Given the description of an element on the screen output the (x, y) to click on. 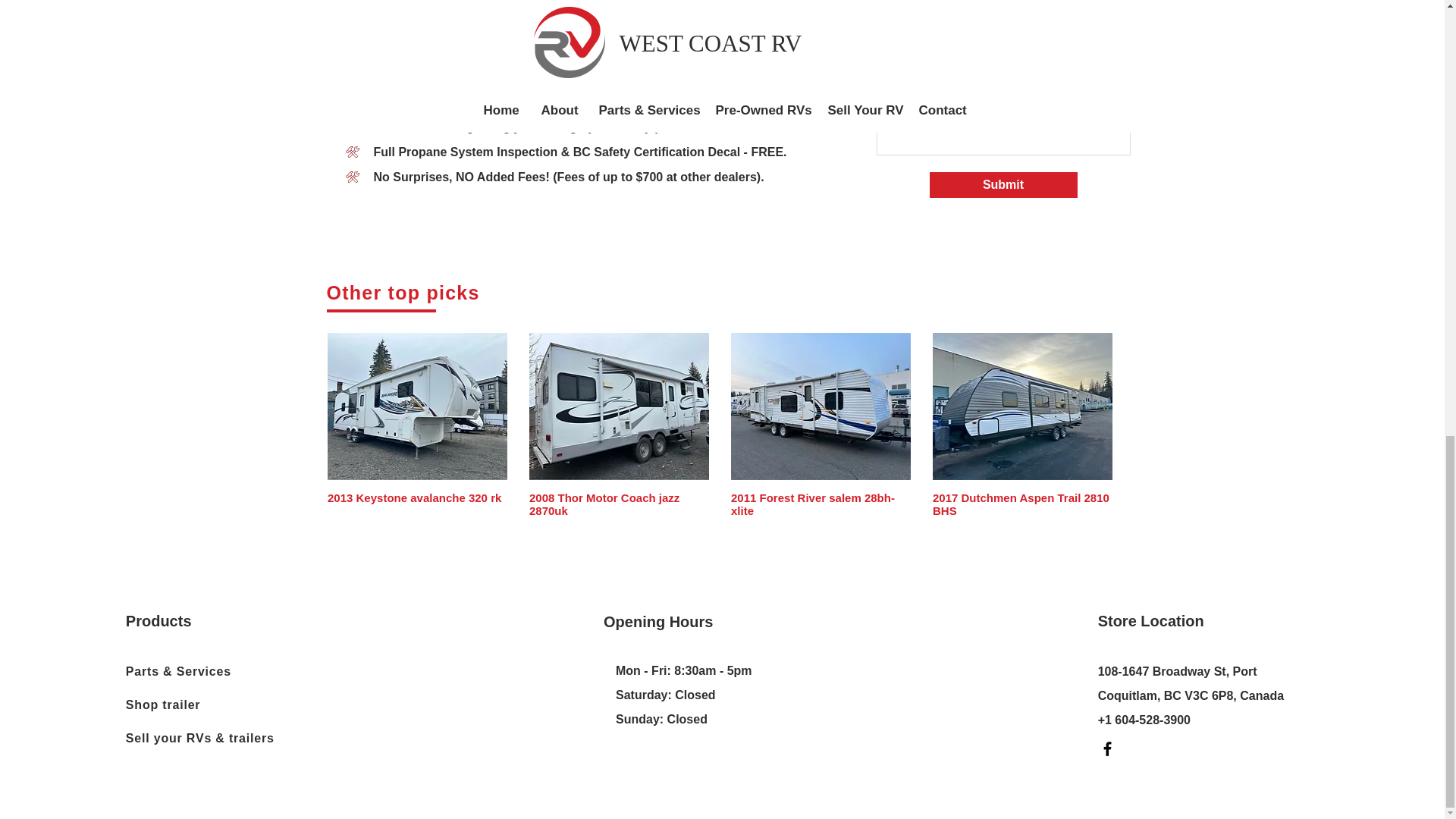
Submit (1003, 184)
Shop trailer (198, 704)
